Given the description of an element on the screen output the (x, y) to click on. 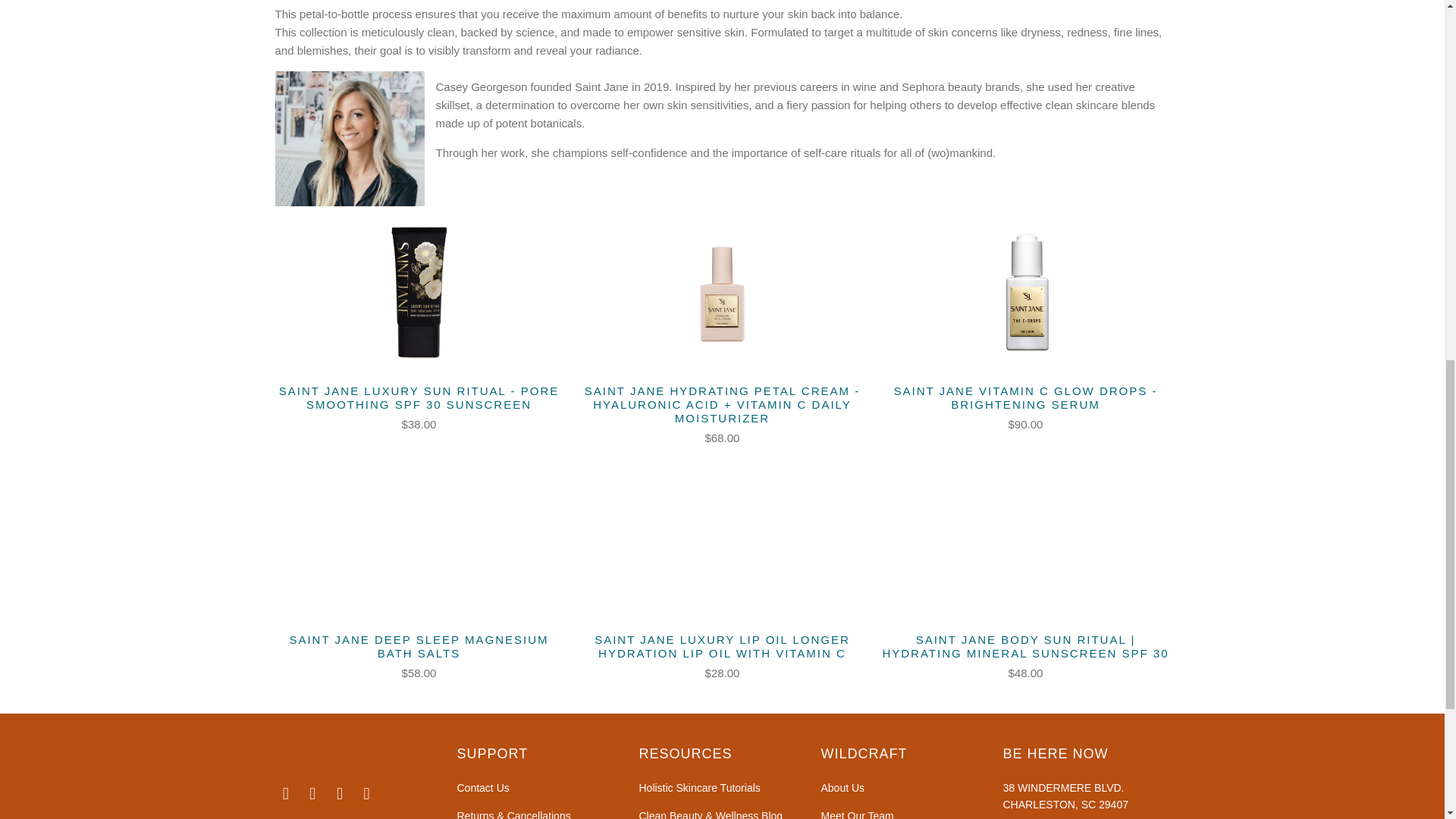
Wildcraft on YouTube (366, 793)
Wildcraft on TikTok (340, 793)
Wildcraft on Facebook (286, 793)
Wildcraft on Instagram (312, 793)
